Given the description of an element on the screen output the (x, y) to click on. 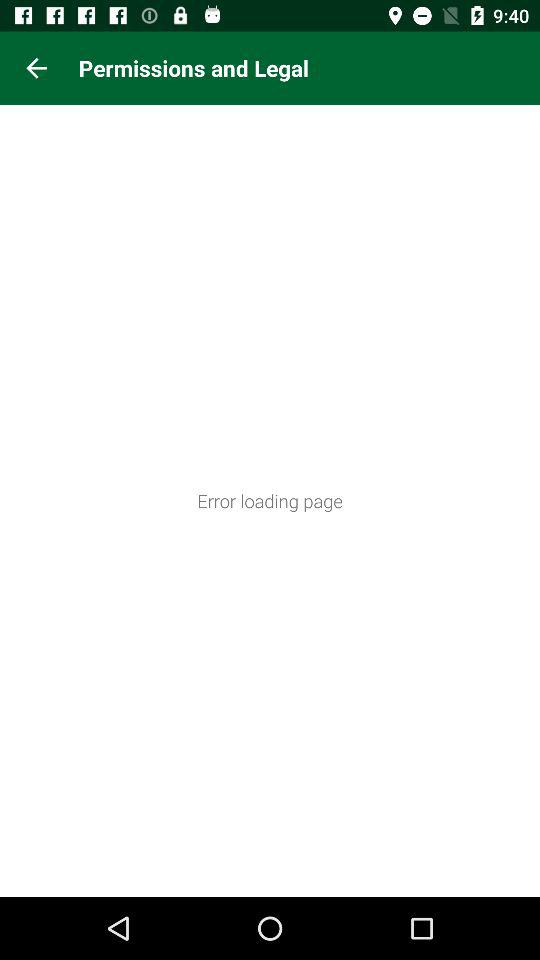
turn on app to the left of the permissions and legal item (36, 68)
